Given the description of an element on the screen output the (x, y) to click on. 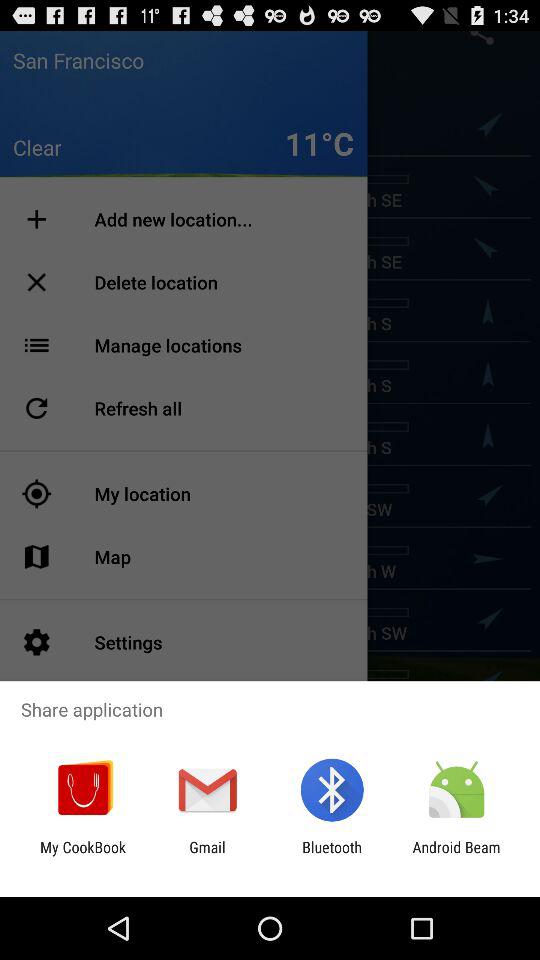
scroll until the bluetooth item (331, 856)
